Given the description of an element on the screen output the (x, y) to click on. 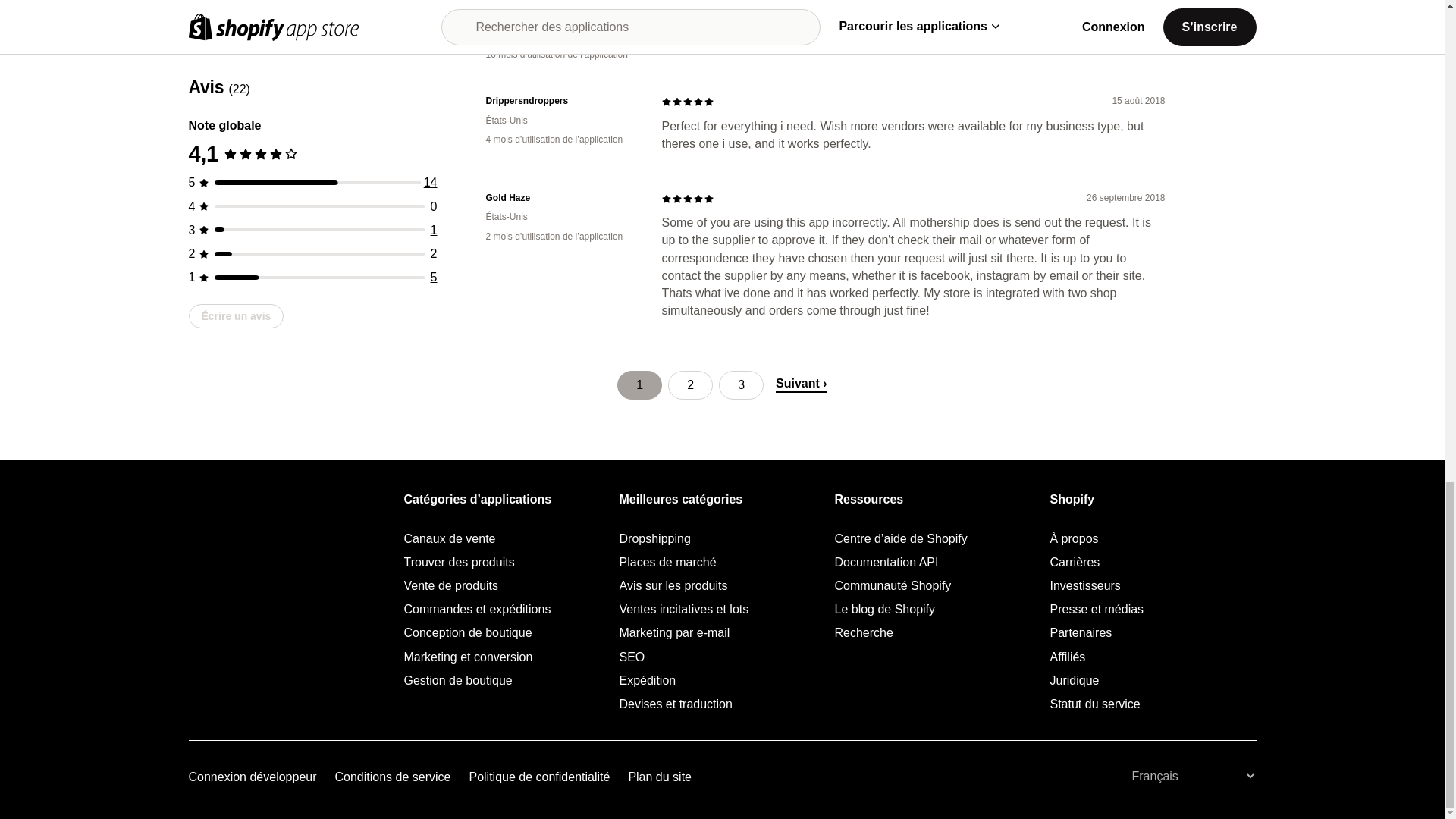
Gold Haze (560, 197)
Ejuices Co (560, 15)
Drippersndroppers (560, 101)
